Given the description of an element on the screen output the (x, y) to click on. 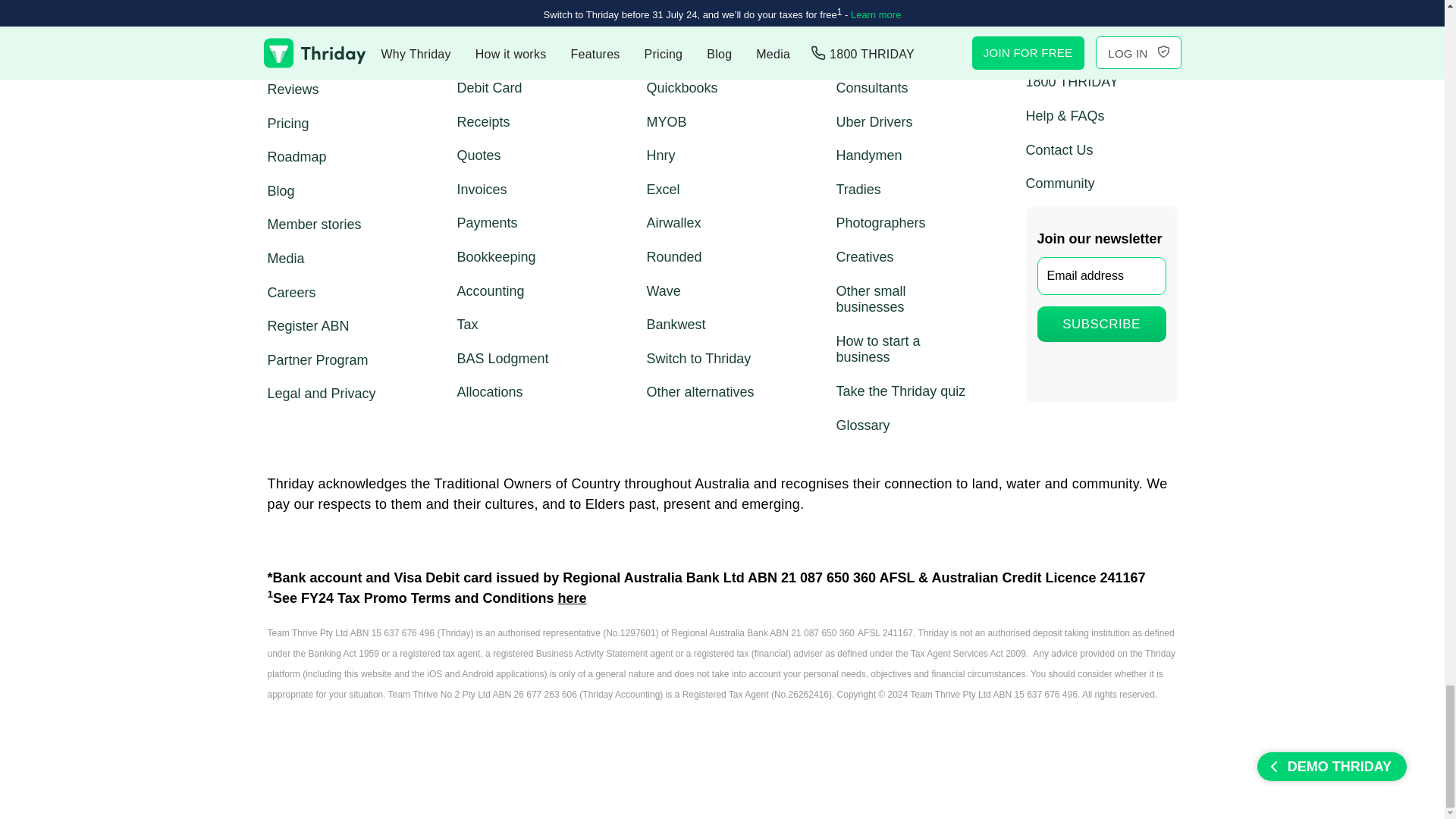
SUBSCRIBE (1101, 324)
